Given the description of an element on the screen output the (x, y) to click on. 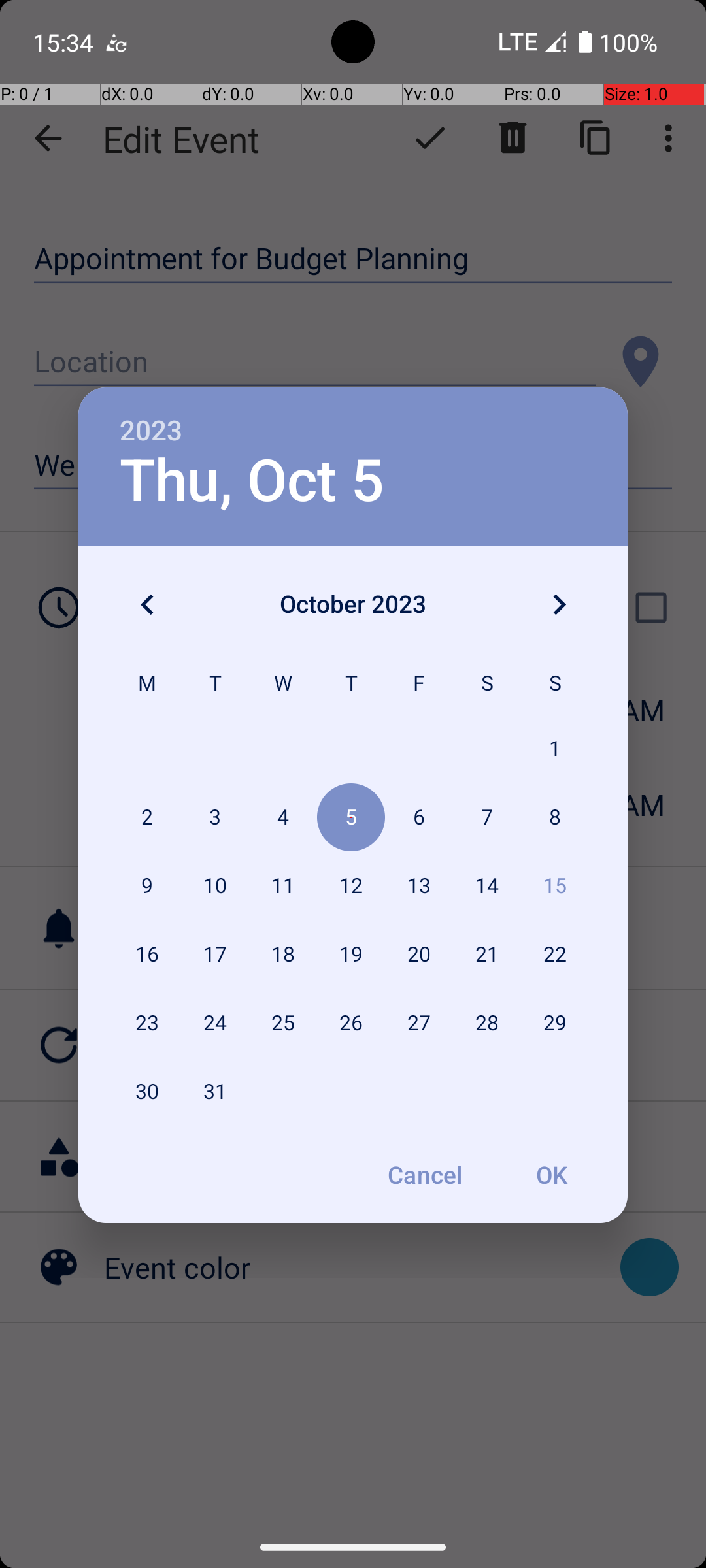
Thu, Oct 5 Element type: android.widget.TextView (251, 480)
